Given the description of an element on the screen output the (x, y) to click on. 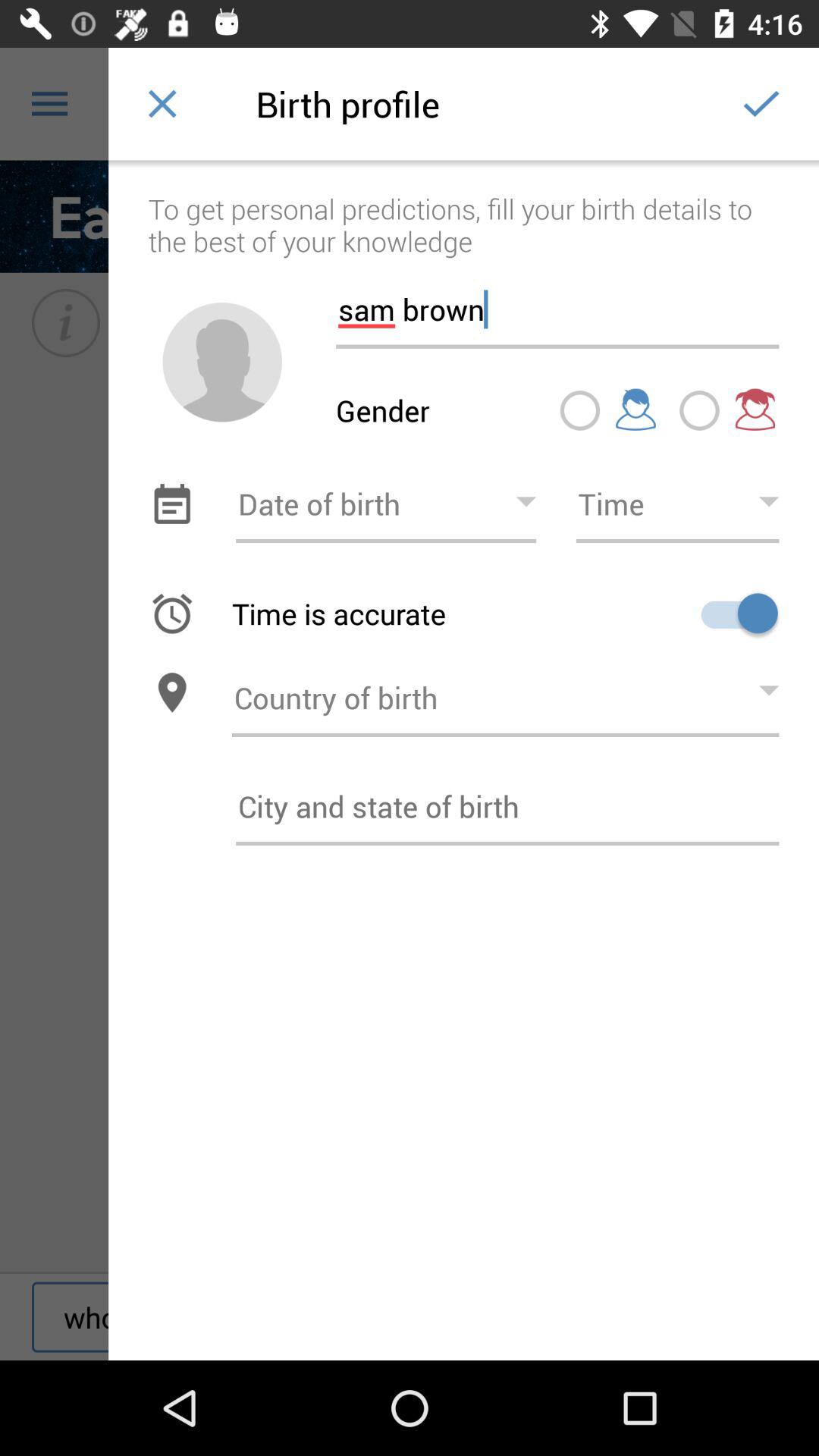
profile information (507, 806)
